Given the description of an element on the screen output the (x, y) to click on. 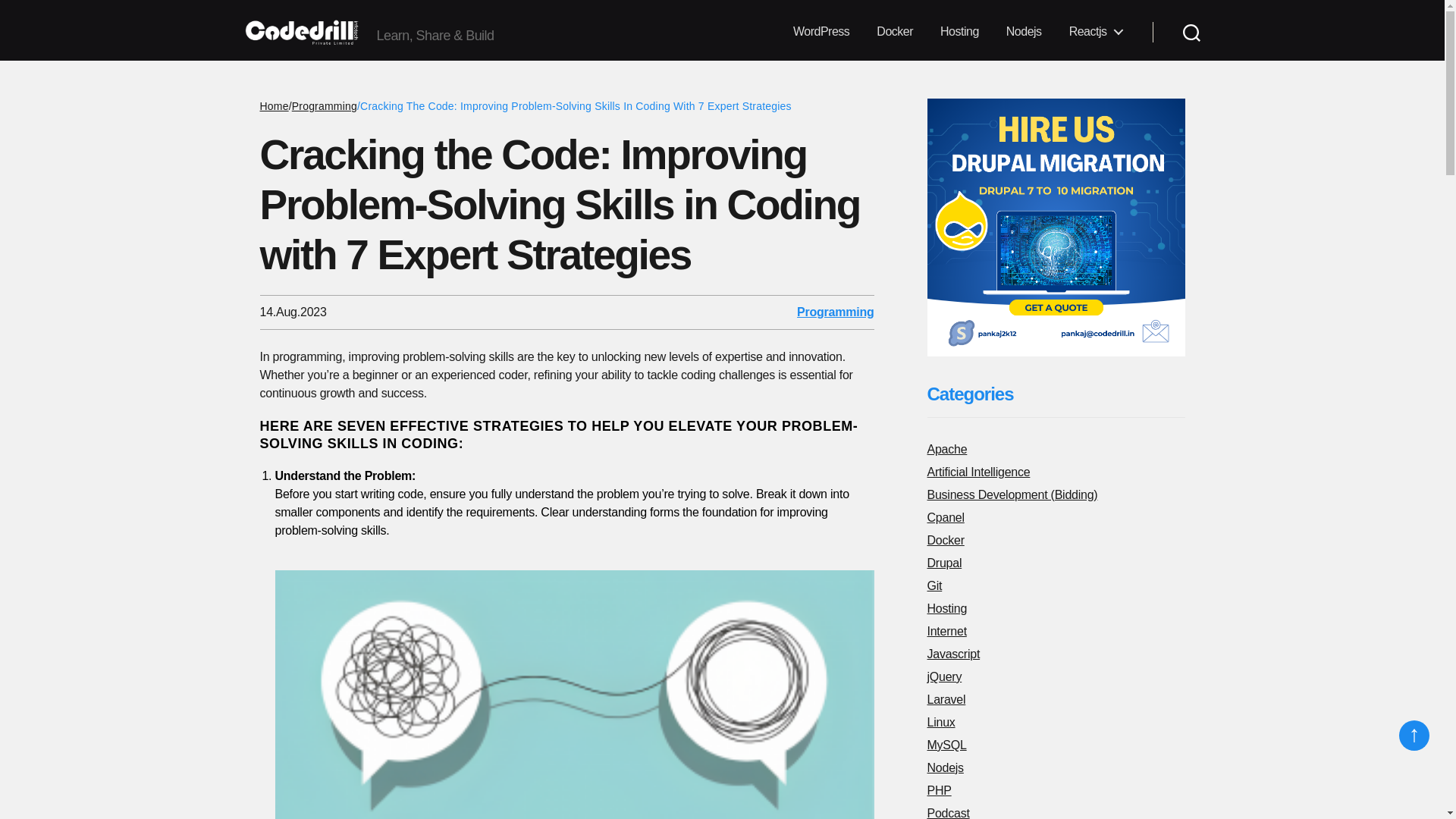
Docker (895, 31)
Programming (834, 311)
Hosting (959, 31)
Artificial Intelligence (1055, 474)
Programming (324, 105)
Apache (1055, 451)
Home (273, 105)
WordPress (820, 31)
Nodejs (1023, 31)
Reactjs (1094, 31)
